Given the description of an element on the screen output the (x, y) to click on. 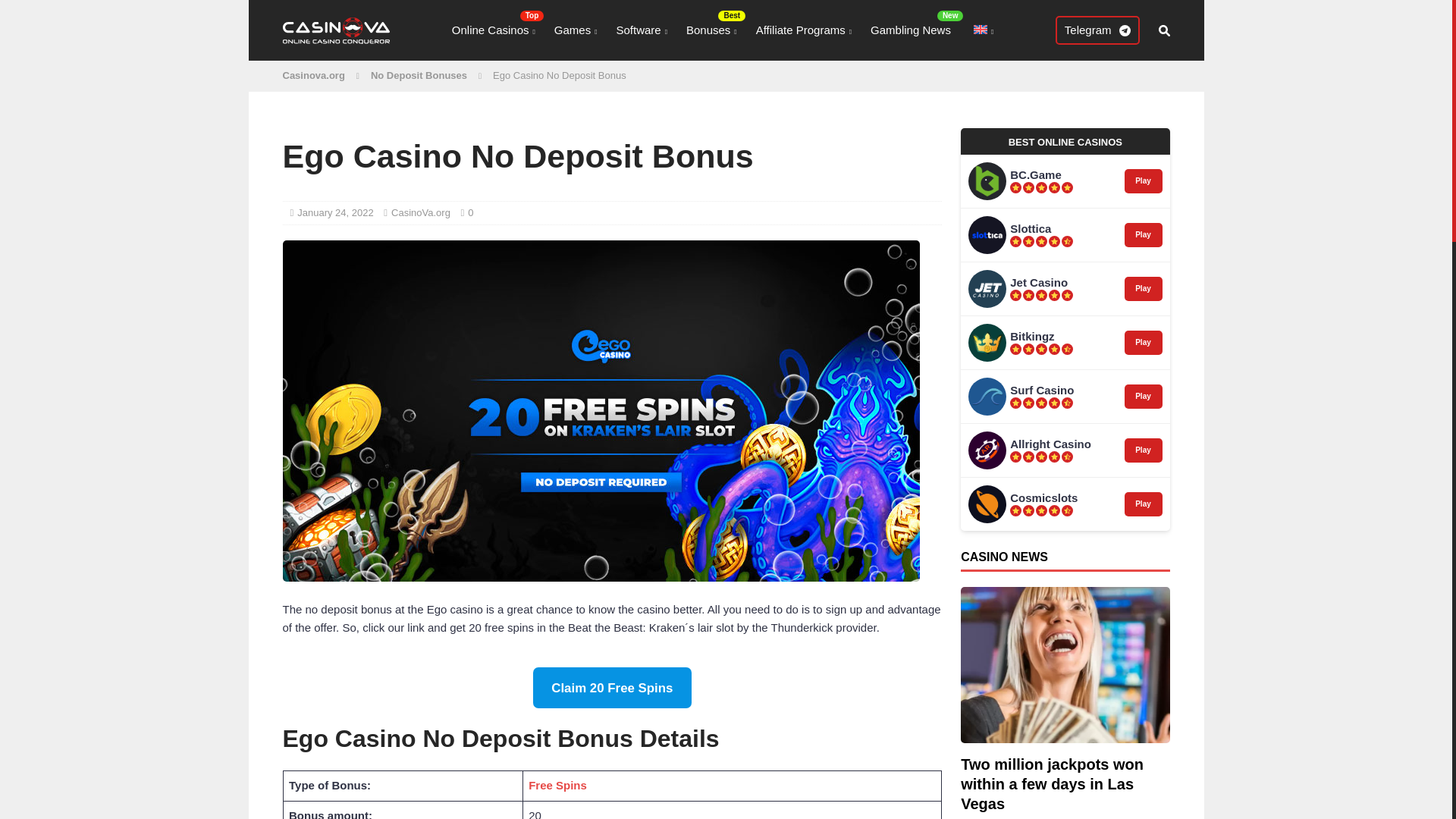
Two million jackpots won within a few days in Las Vegas (1051, 783)
Bitkingz Casino (987, 342)
Cosmic Slot Casino (987, 504)
Two million jackpots won within a few days in Las Vegas (1064, 665)
